Given the description of an element on the screen output the (x, y) to click on. 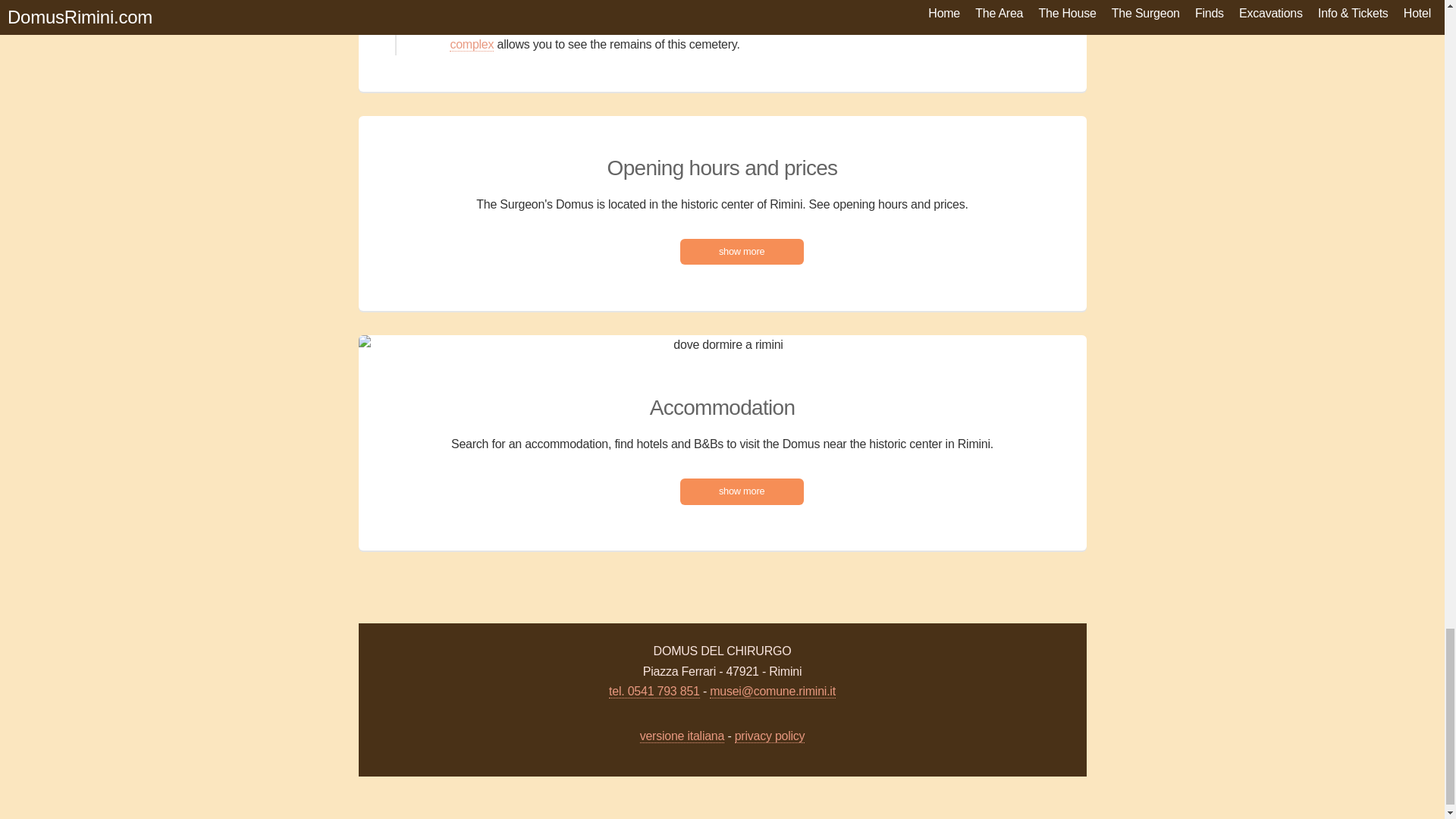
tel. 0541 793 851 (654, 691)
show more (741, 491)
show more (741, 252)
privacy policy (770, 735)
versione italiana (682, 735)
archaeological complex (601, 34)
